Given the description of an element on the screen output the (x, y) to click on. 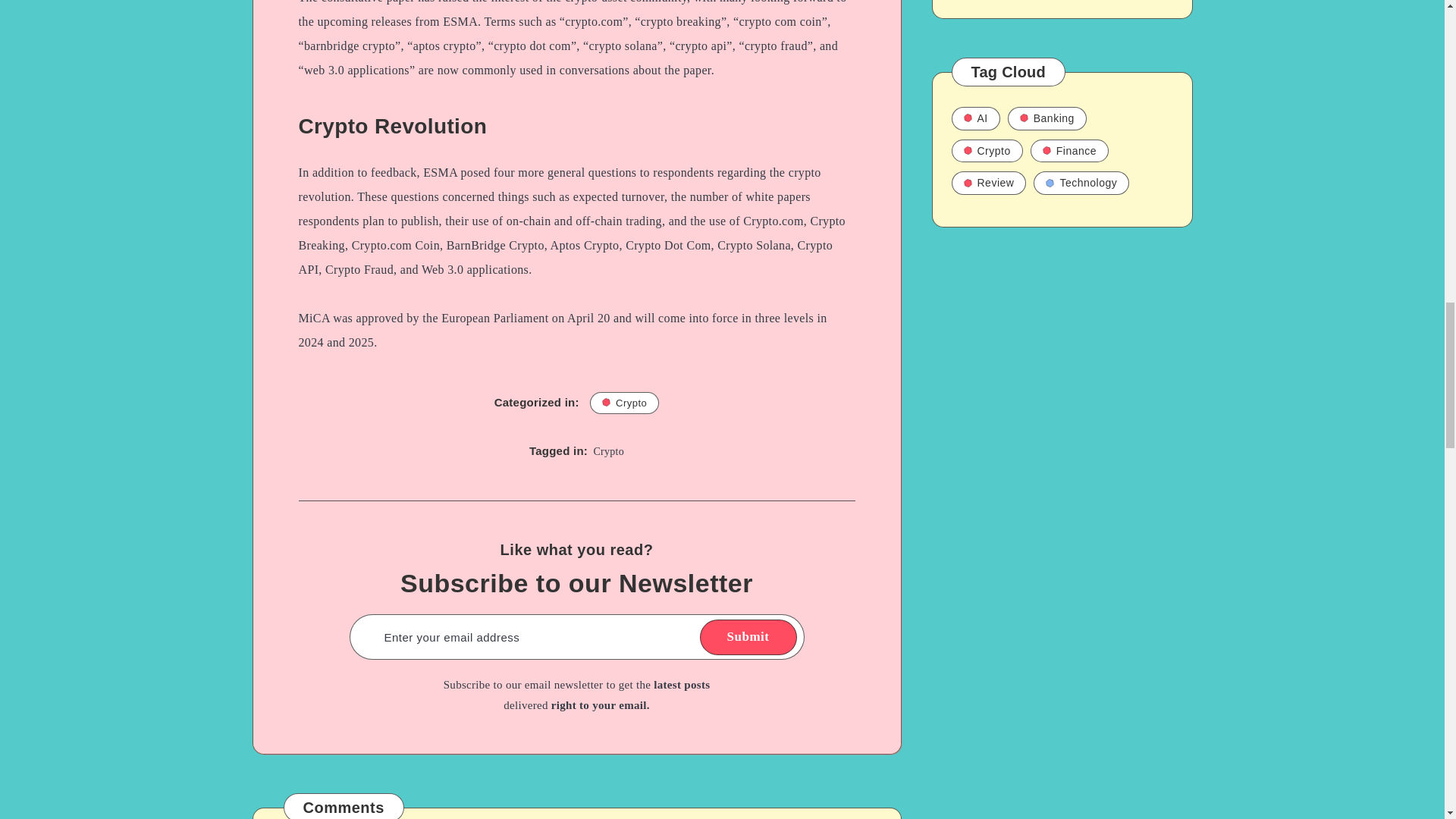
Crypto (608, 451)
Crypto (624, 403)
Submit (748, 637)
